Given the description of an element on the screen output the (x, y) to click on. 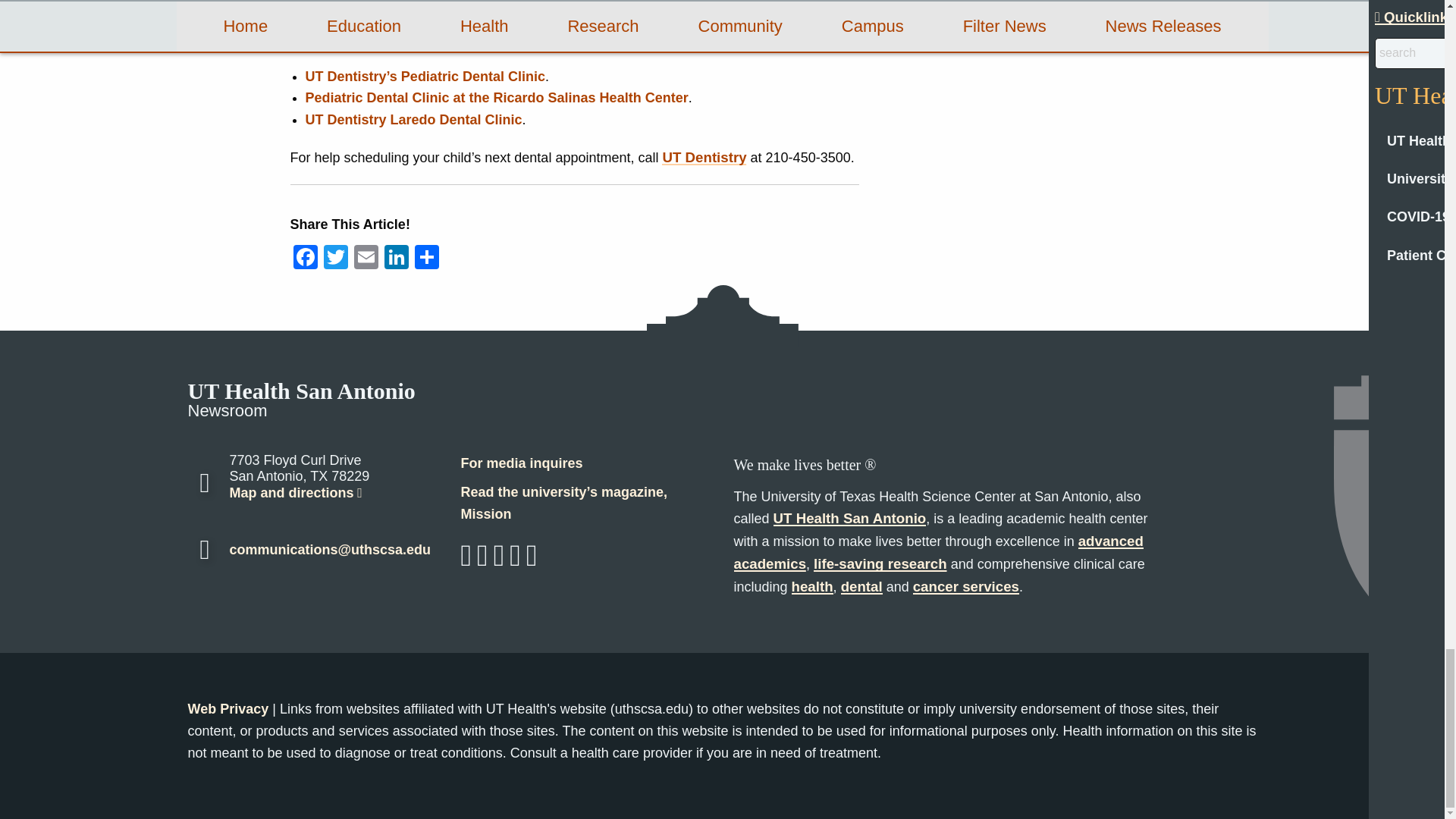
Twitter (335, 258)
Facebook (304, 258)
UT Dentistry Laredo Dental Clinic (412, 119)
LinkedIn (395, 258)
Email (365, 258)
UT Dentistry (703, 157)
Pediatric Dental Clinic at the Ricardo Salinas Health Center (495, 97)
Email (365, 258)
Facebook (304, 258)
LinkedIn (395, 258)
Twitter (335, 258)
